Given the description of an element on the screen output the (x, y) to click on. 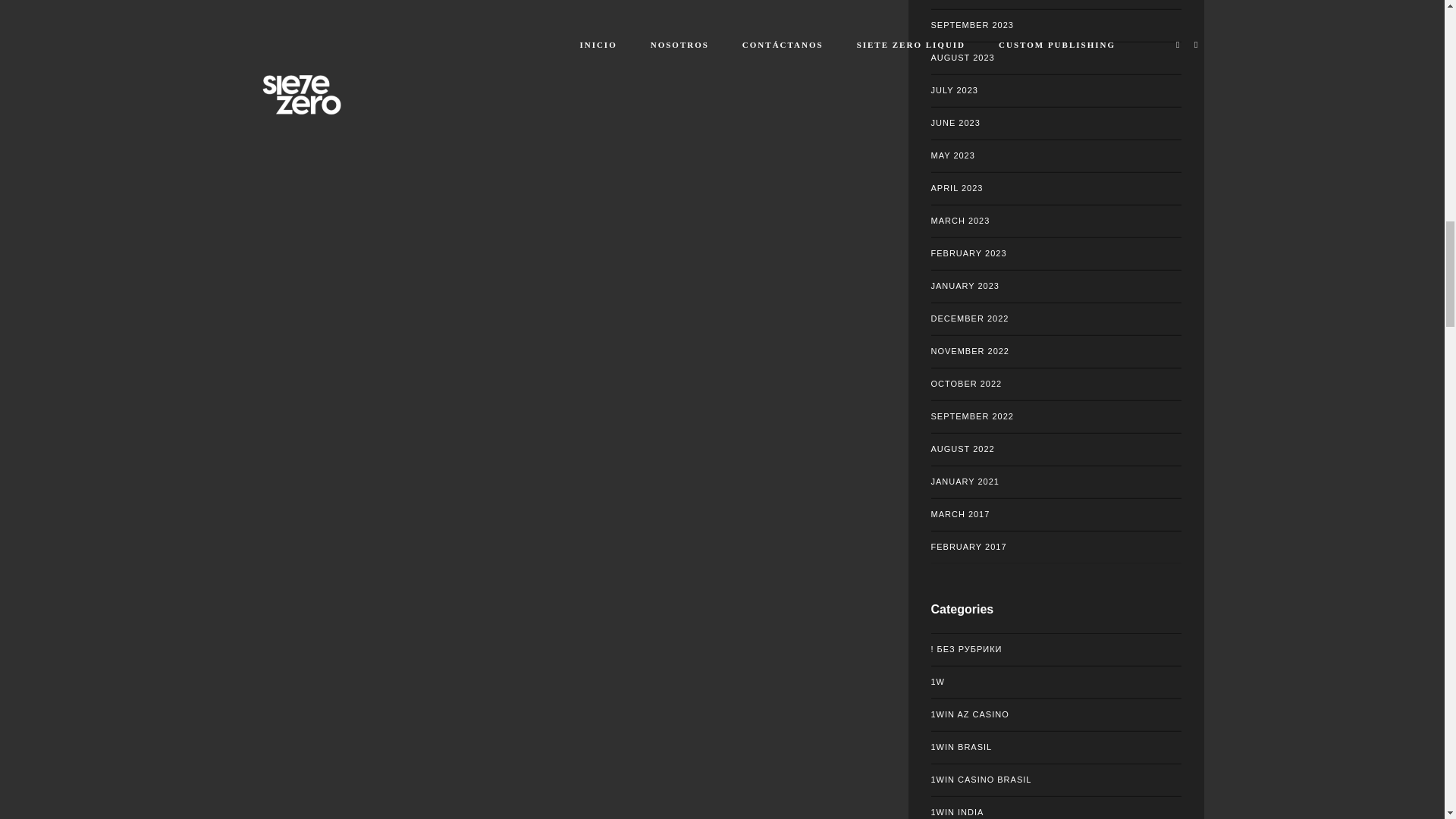
SEPTEMBER 2023 (1055, 25)
JULY 2023 (1055, 90)
JUNE 2023 (1055, 123)
MAY 2023 (1055, 155)
JANUARY 2023 (1055, 286)
APRIL 2023 (1055, 187)
MARCH 2023 (1055, 220)
OCTOBER 2023 (1055, 4)
FEBRUARY 2023 (1055, 253)
AUGUST 2023 (1055, 57)
DECEMBER 2022 (1055, 318)
